Given the description of an element on the screen output the (x, y) to click on. 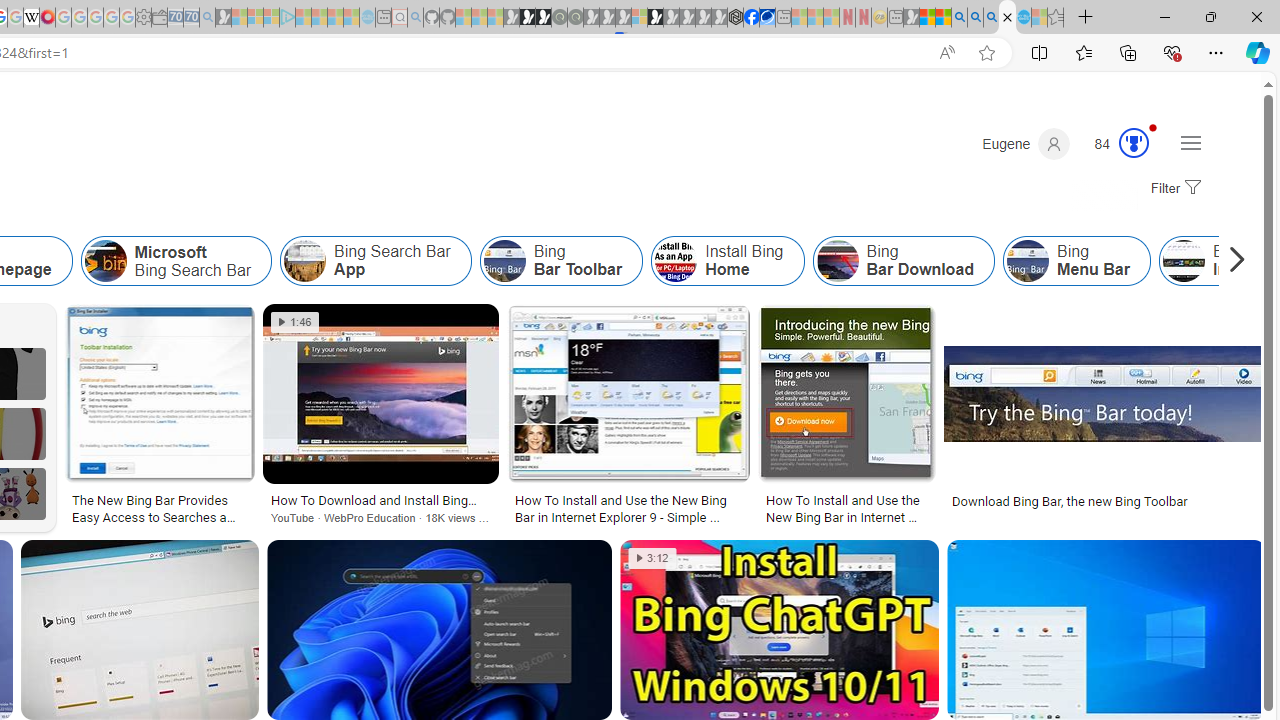
Target page - Wikipedia (31, 17)
MediaWiki (47, 17)
Install Bing Home (676, 260)
Download Bing Bar, the new Bing Toolbar (1069, 500)
